Given the description of an element on the screen output the (x, y) to click on. 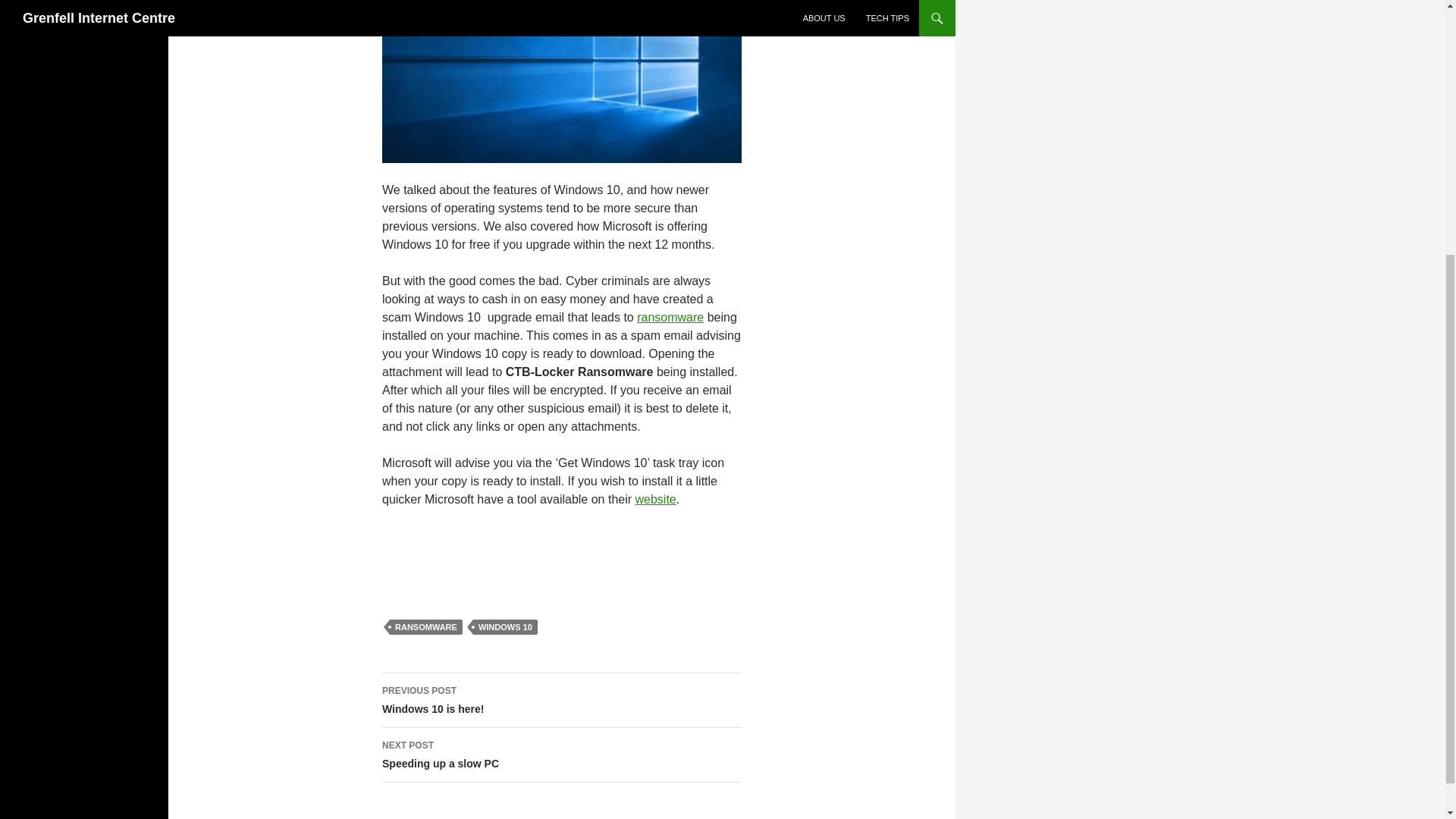
website (561, 755)
RANSOMWARE (655, 499)
ransomware (426, 626)
WINDOWS 10 (670, 317)
